Given the description of an element on the screen output the (x, y) to click on. 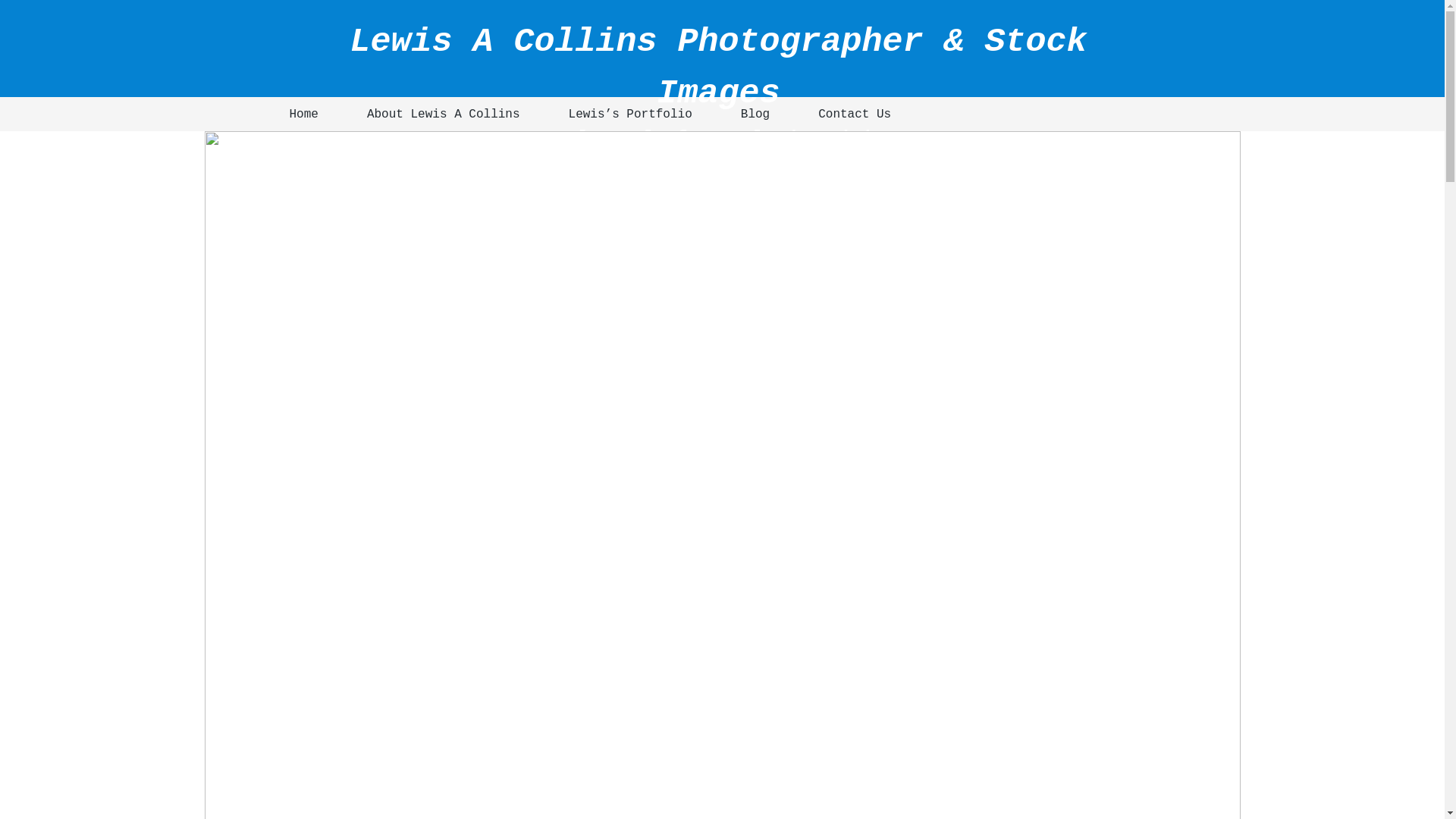
Lewis A Collins Photographer & Stock Images Element type: text (717, 67)
Real People for Real Advertising Element type: text (718, 138)
Blog Element type: text (768, 114)
Home Element type: text (317, 114)
About Lewis A Collins Element type: text (457, 114)
Contact Us Element type: text (867, 114)
